Given the description of an element on the screen output the (x, y) to click on. 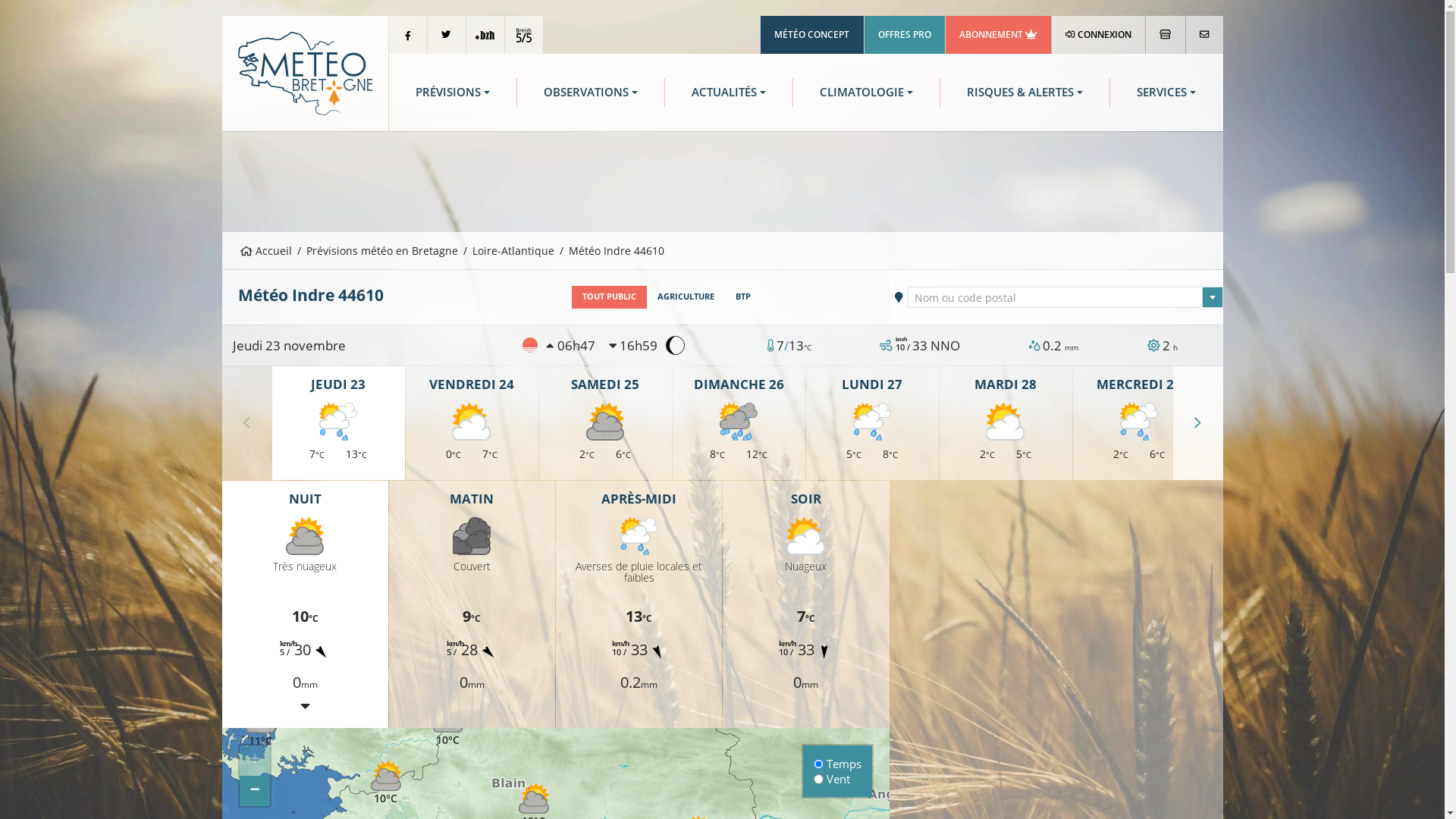
BTP Element type: text (742, 296)
AGRICULTURE Element type: text (685, 296)
OBSERVATIONS Element type: text (590, 92)
TOUT PUBLIC Element type: text (608, 296)
OFFRES PRO Element type: text (904, 34)
Nous contacter Element type: hover (1204, 34)
CLIMATOLOGIE Element type: text (866, 92)
Loire-Atlantique Element type: text (513, 250)
ABONNEMENT Element type: text (998, 34)
SERVICES Element type: text (1166, 92)
CONNEXION Element type: text (1098, 34)
RISQUES & ALERTES Element type: text (1024, 92)
+ Element type: text (254, 760)
Accueil Element type: text (265, 250)
